Given the description of an element on the screen output the (x, y) to click on. 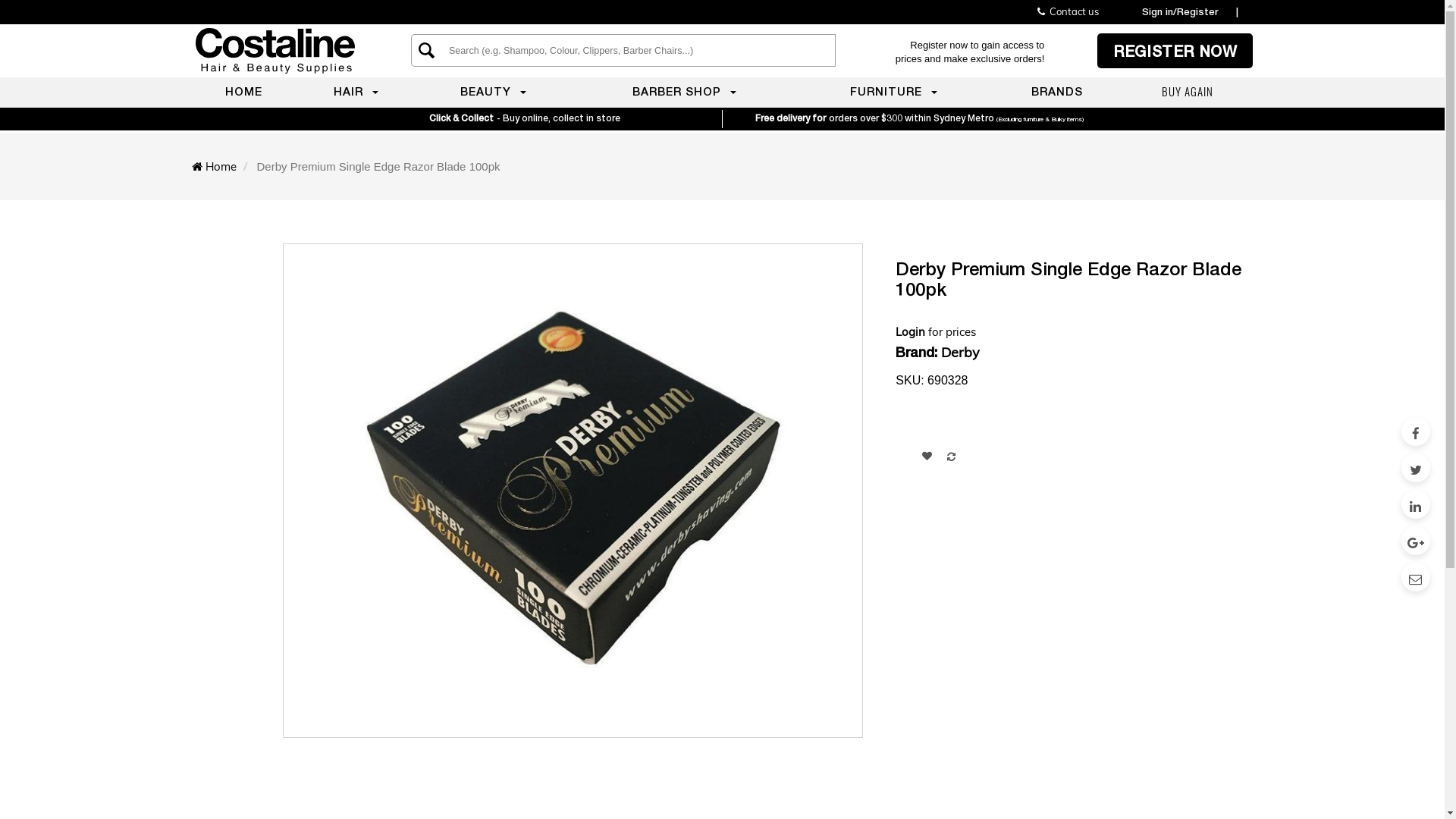
HOME Element type: text (243, 90)
  Contact us Element type: text (1067, 11)
BARBER SHOP Element type: text (684, 90)
BRANDS Element type: text (1056, 90)
REGISTER NOW Element type: text (1174, 50)
Login Element type: text (911, 331)
Home Element type: text (219, 166)
Sign in/Register Element type: text (1179, 11)
Derby Element type: text (960, 351)
REGISTER NOW Element type: text (1174, 50)
Costaline Hair & Beauty Supplies Element type: hover (274, 50)
BUY AGAIN Element type: text (1187, 91)
BEAUTY Element type: text (492, 90)
Add To Wishlist Element type: hover (926, 455)
FURNITURE Element type: text (893, 90)
HAIR Element type: text (355, 90)
